Given the description of an element on the screen output the (x, y) to click on. 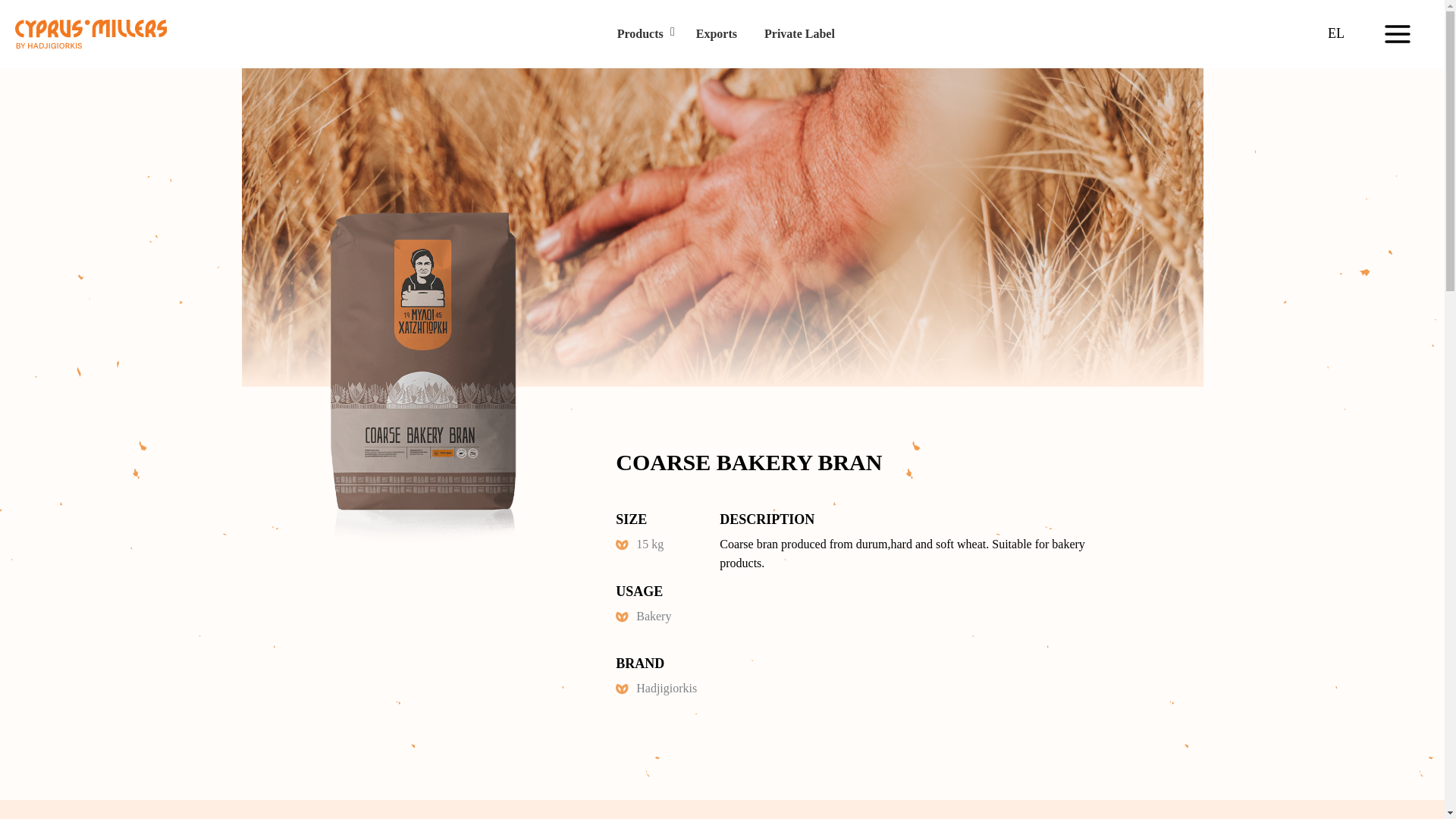
Exports (716, 33)
Main Menu (1397, 34)
Products (638, 33)
EL (1336, 33)
Private Label (799, 33)
